Given the description of an element on the screen output the (x, y) to click on. 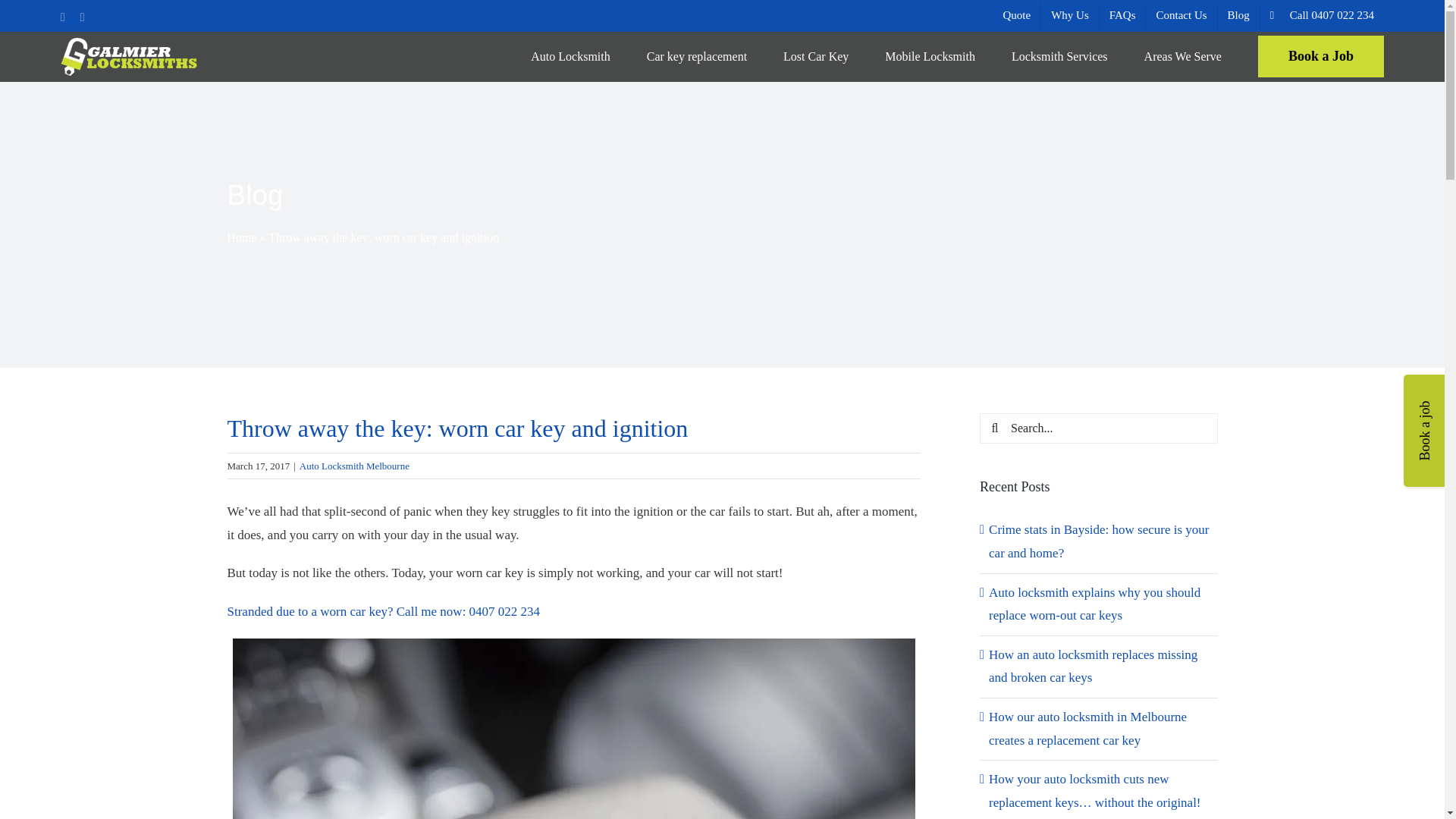
Lost Car Key (815, 56)
Locksmith Services (1059, 56)
FAQs (1122, 15)
LinkedIn (82, 17)
Facebook (63, 17)
Contact Us (1180, 15)
Car key replacement (696, 56)
Why Us (1070, 15)
Call 0407 022 234 (1322, 15)
Facebook (63, 17)
Blog (1238, 15)
Mobile Locksmith (930, 56)
Quote (1016, 15)
LinkedIn (82, 17)
Auto Locksmith (570, 56)
